Given the description of an element on the screen output the (x, y) to click on. 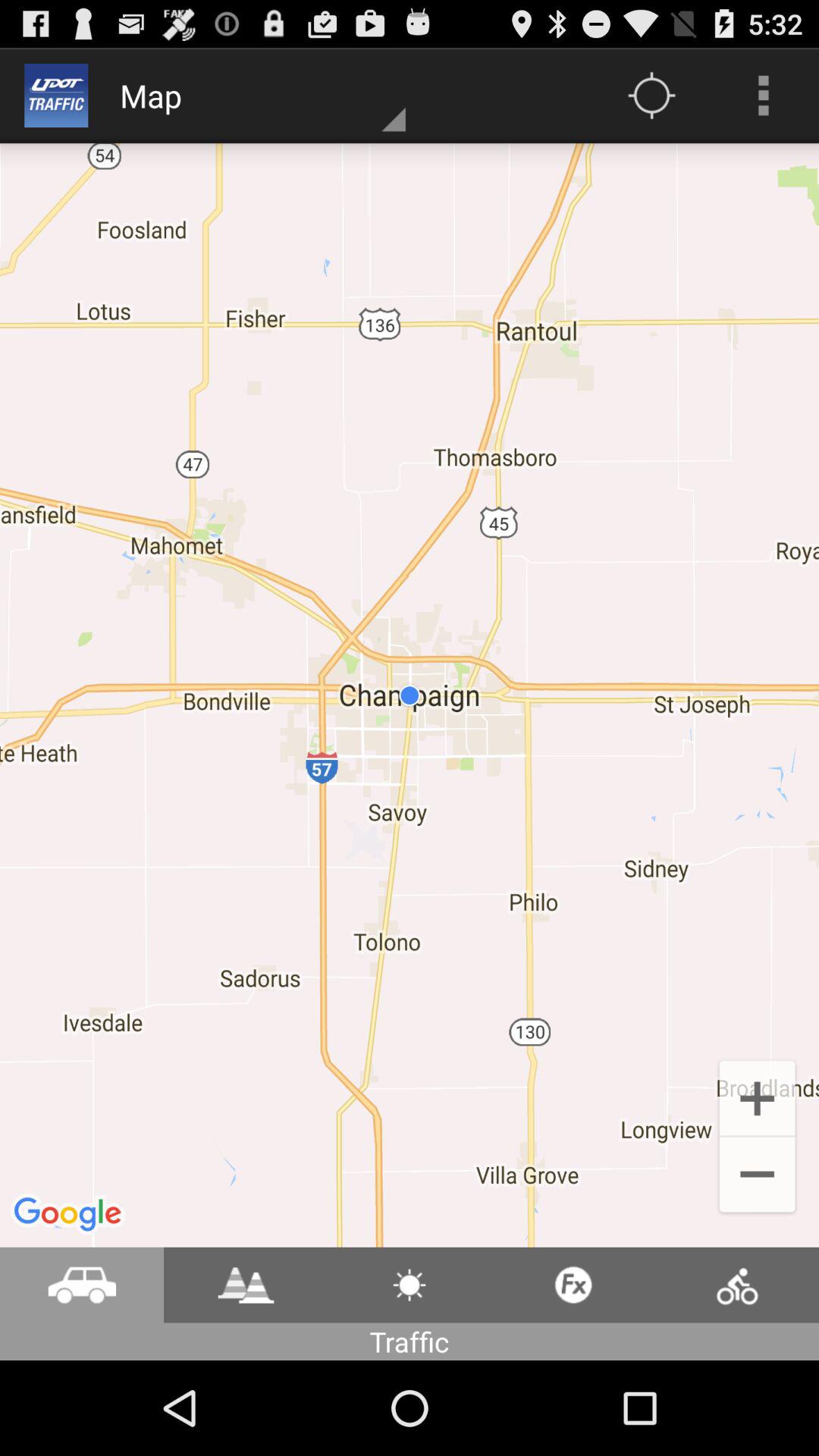
video play (245, 1284)
